Given the description of an element on the screen output the (x, y) to click on. 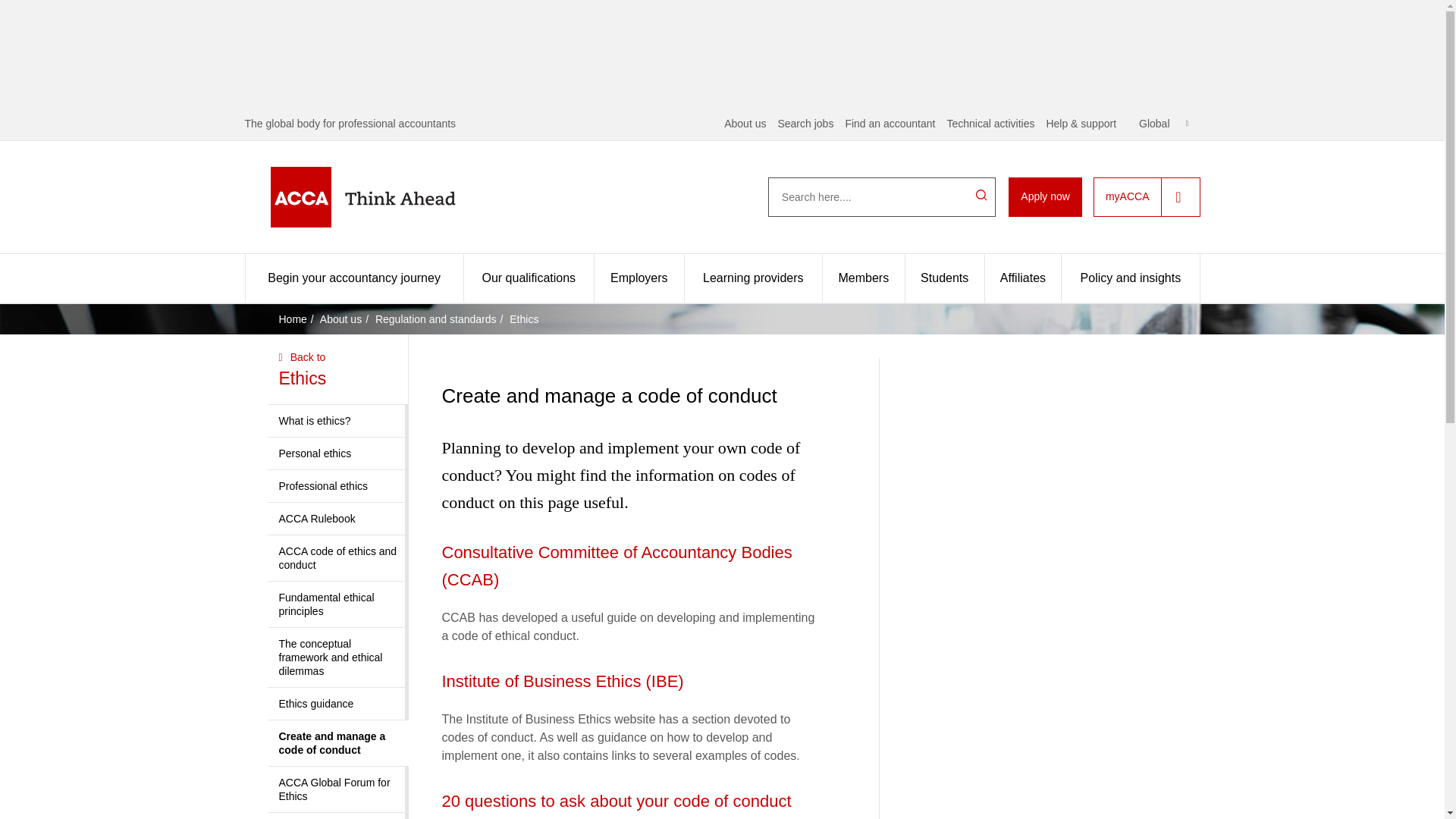
Global (1162, 123)
Home (387, 197)
Global (1162, 123)
About us (744, 123)
Find an accountant (889, 123)
Search jobs (804, 123)
Technical activities (989, 123)
